Given the description of an element on the screen output the (x, y) to click on. 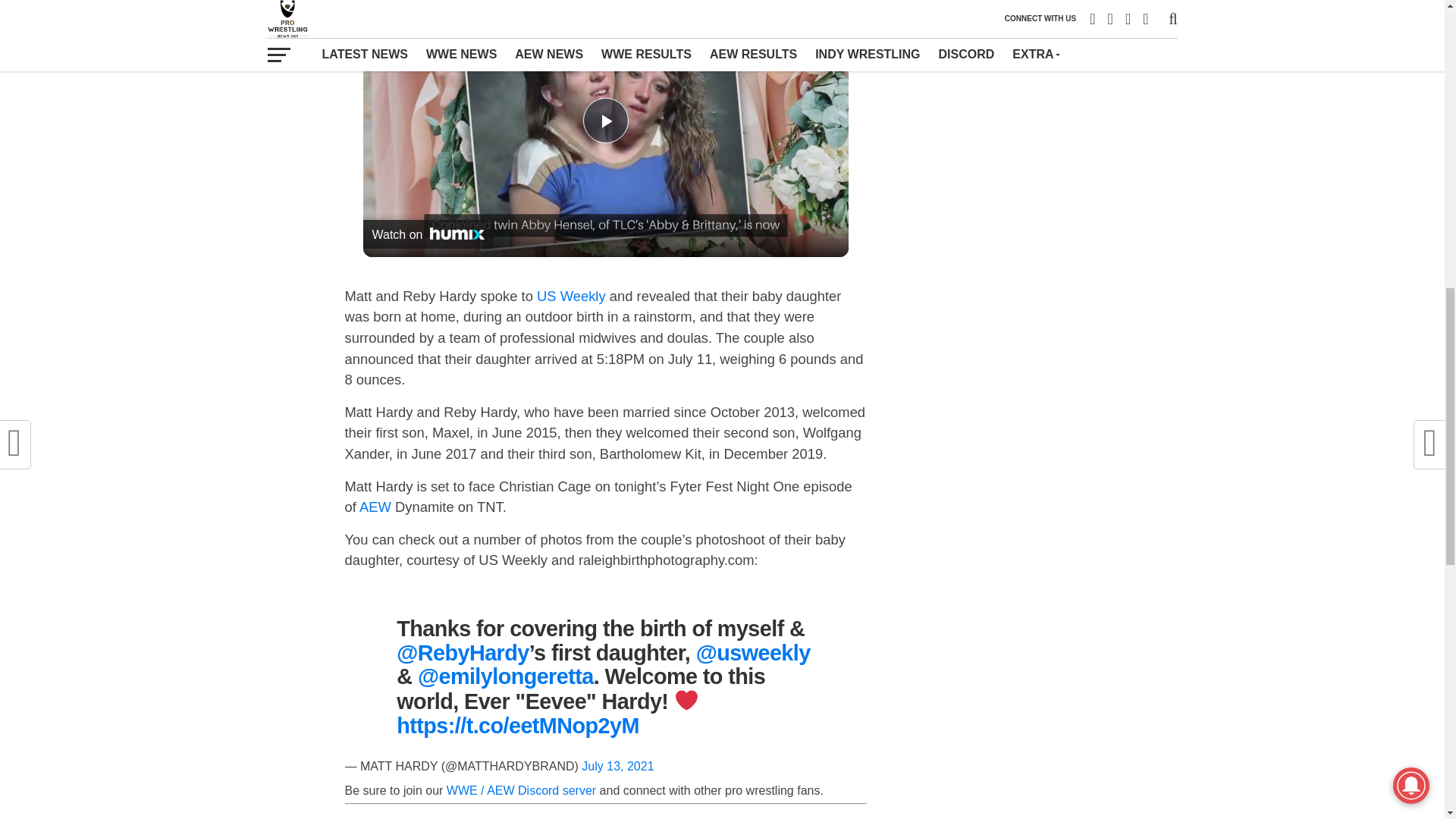
Play Video (604, 120)
